Given the description of an element on the screen output the (x, y) to click on. 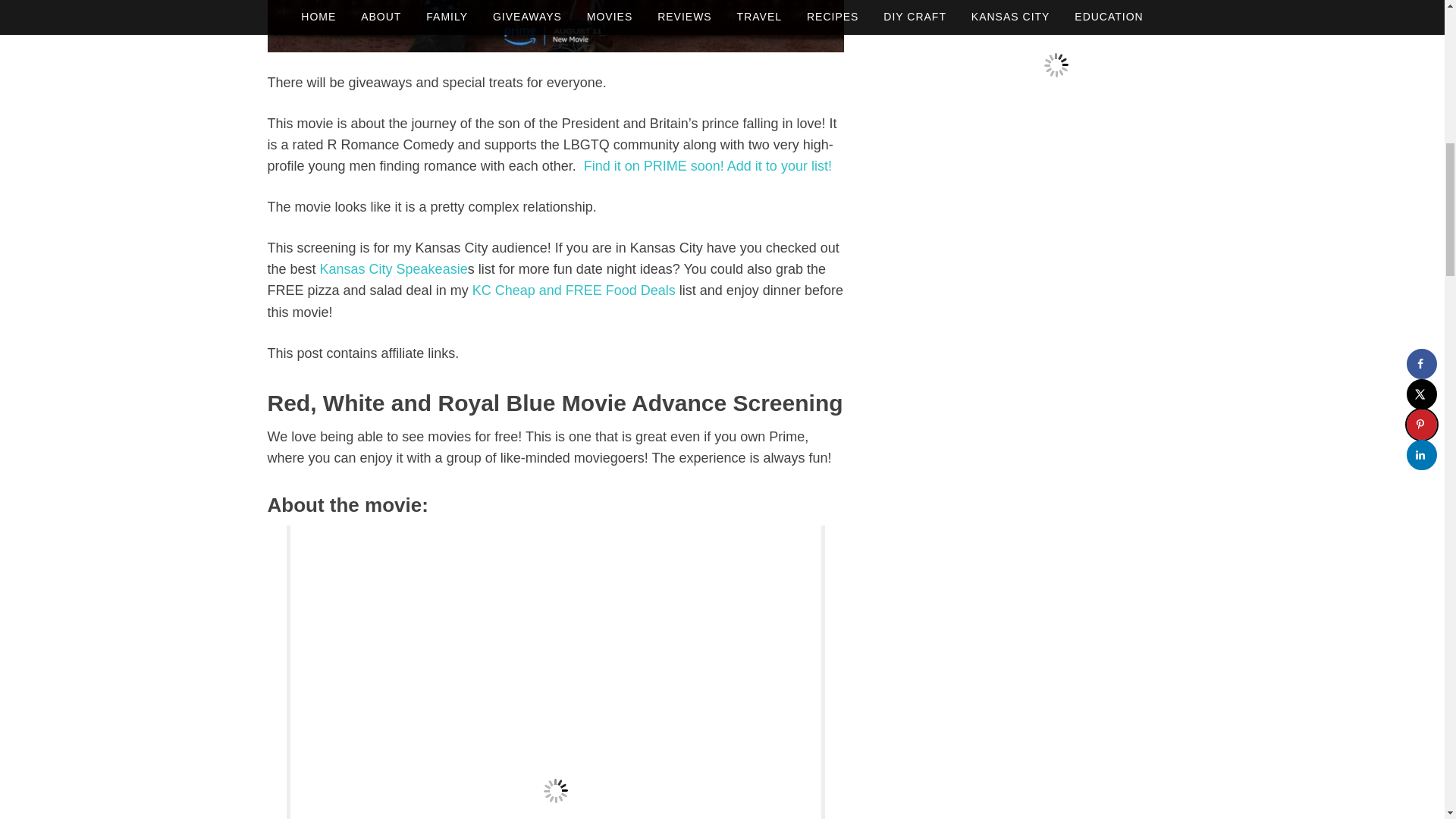
Kansas City Speakeasie (393, 268)
FREE Food Deals in Kansas City (573, 290)
I love shop on dhgate where I can save a lot (1056, 64)
KC Cheap and FREE Food Deals (573, 290)
Find it on PRIME soon! Add it to your list! (707, 165)
